Given the description of an element on the screen output the (x, y) to click on. 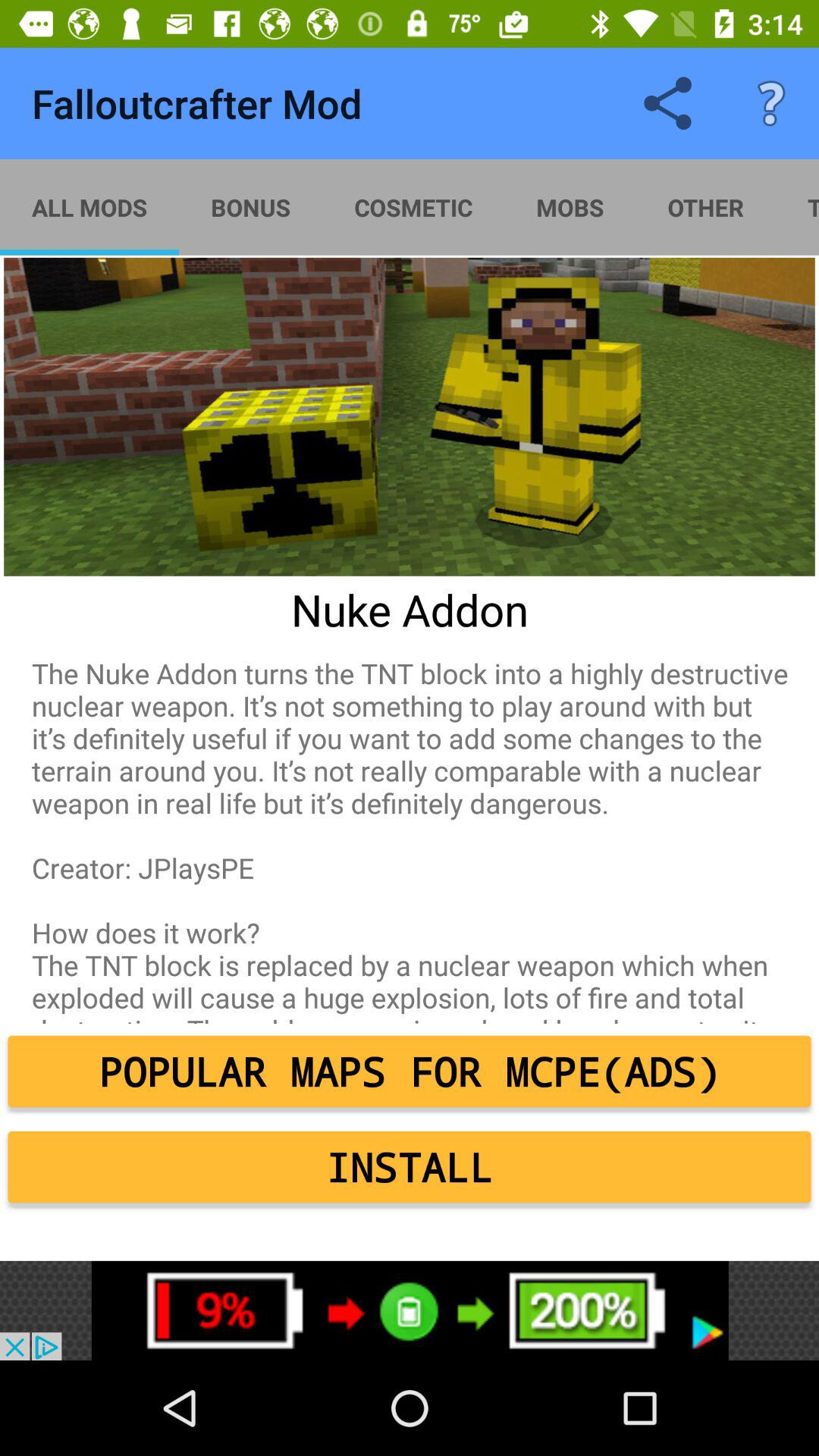
go to advertisement page (409, 1310)
